Given the description of an element on the screen output the (x, y) to click on. 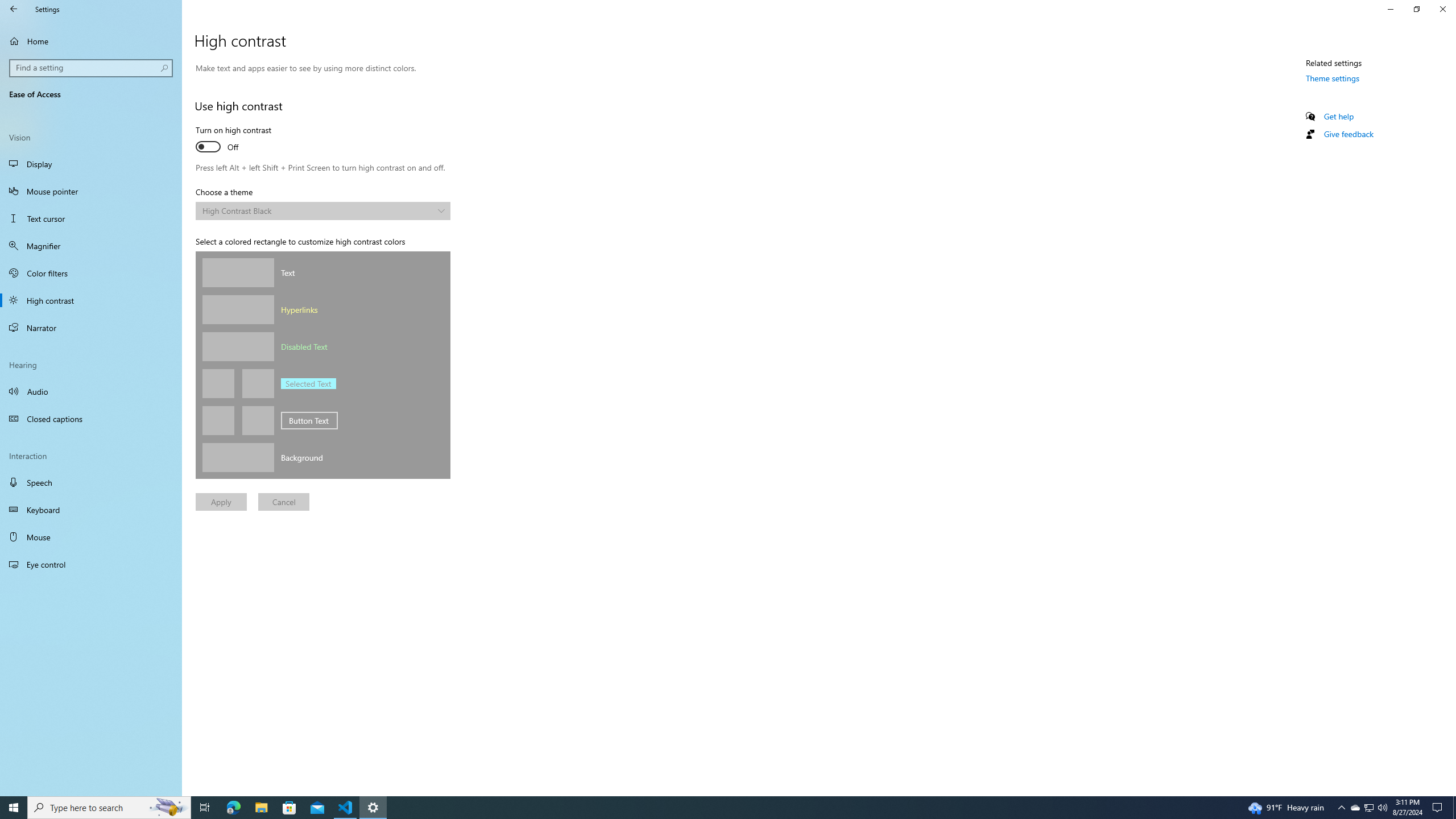
Type here to search (108, 807)
Button text color (218, 420)
Text cursor (91, 217)
Back (13, 9)
Notification Chevron (1341, 807)
Speech (91, 482)
Q2790: 100% (1382, 807)
Start (13, 807)
Narrator (91, 327)
Color filters (91, 272)
Text color (237, 272)
Action Center, No new notifications (1439, 807)
Give feedback (1348, 133)
